Given the description of an element on the screen output the (x, y) to click on. 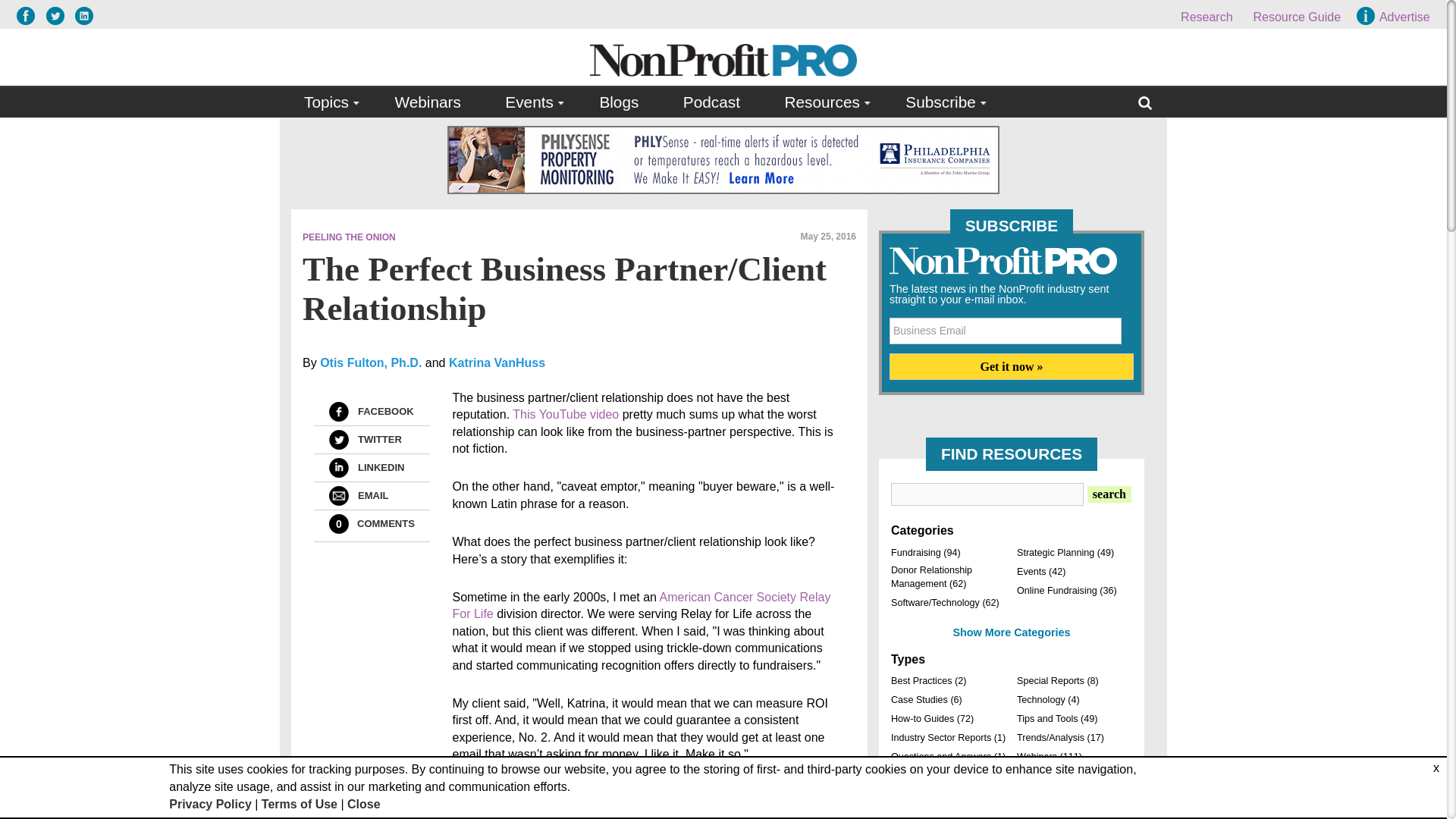
Opens in a new window (565, 413)
LinkedIn (339, 467)
Opens in a new window (640, 604)
Opens in a new window (29, 15)
Email Link (339, 496)
Opens in a new window (84, 15)
Research (1205, 16)
Resource Guide (1296, 16)
Topics (327, 101)
3rd party ad content (722, 160)
Twitter (339, 439)
Facebook (339, 411)
search (1109, 494)
Opens in a new window (58, 15)
Advertise (1395, 16)
